Given the description of an element on the screen output the (x, y) to click on. 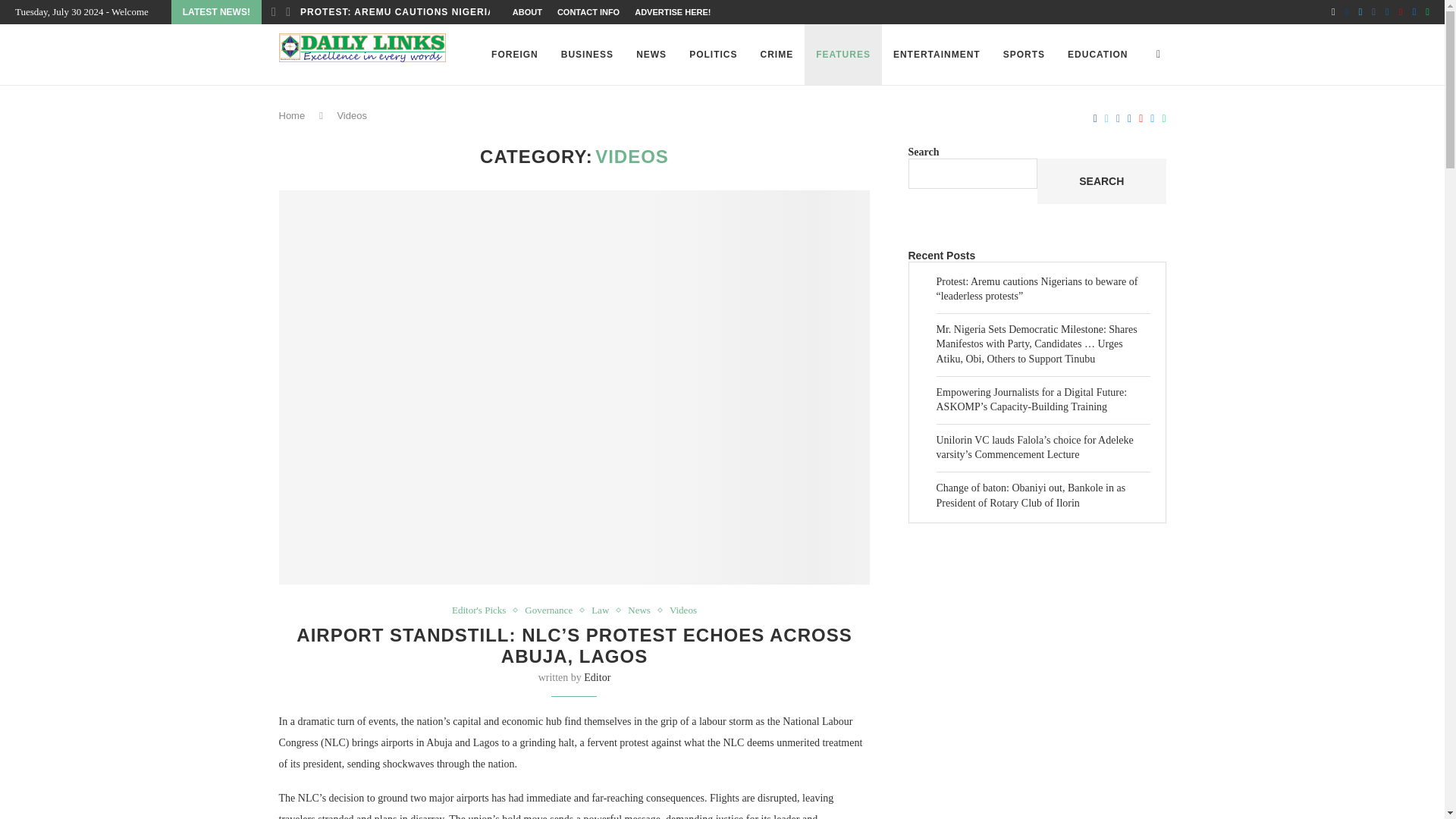
EDUCATION (1097, 54)
SPORTS (1024, 54)
POLITICS (713, 54)
CRIME (776, 54)
Daily Links Digital Media (1037, 789)
FOREIGN (515, 54)
FEATURES (843, 54)
CONTACT INFO (588, 12)
ABOUT (526, 12)
AYANCITY (1037, 640)
ENTERTAINMENT (936, 54)
ADVERTISE HERE! (672, 12)
BUSINESS (587, 54)
